Given the description of an element on the screen output the (x, y) to click on. 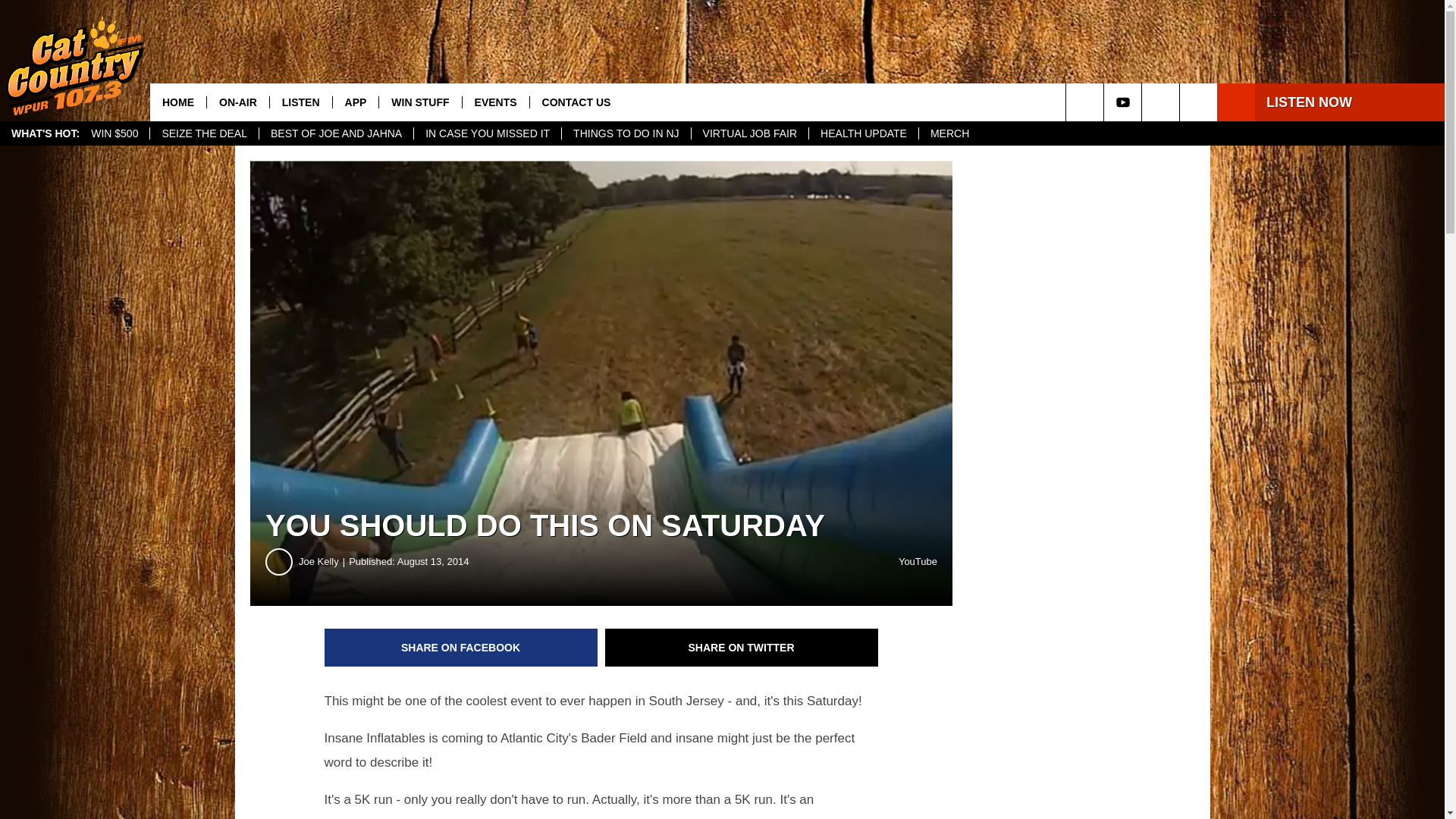
SEIZE THE DEAL (204, 133)
HOME (177, 102)
THINGS TO DO IN NJ (625, 133)
APP (354, 102)
VIRTUAL JOB FAIR (749, 133)
ON-AIR (237, 102)
Share on Facebook (460, 647)
WIN STUFF (419, 102)
HEALTH UPDATE (863, 133)
LISTEN (300, 102)
